Given the description of an element on the screen output the (x, y) to click on. 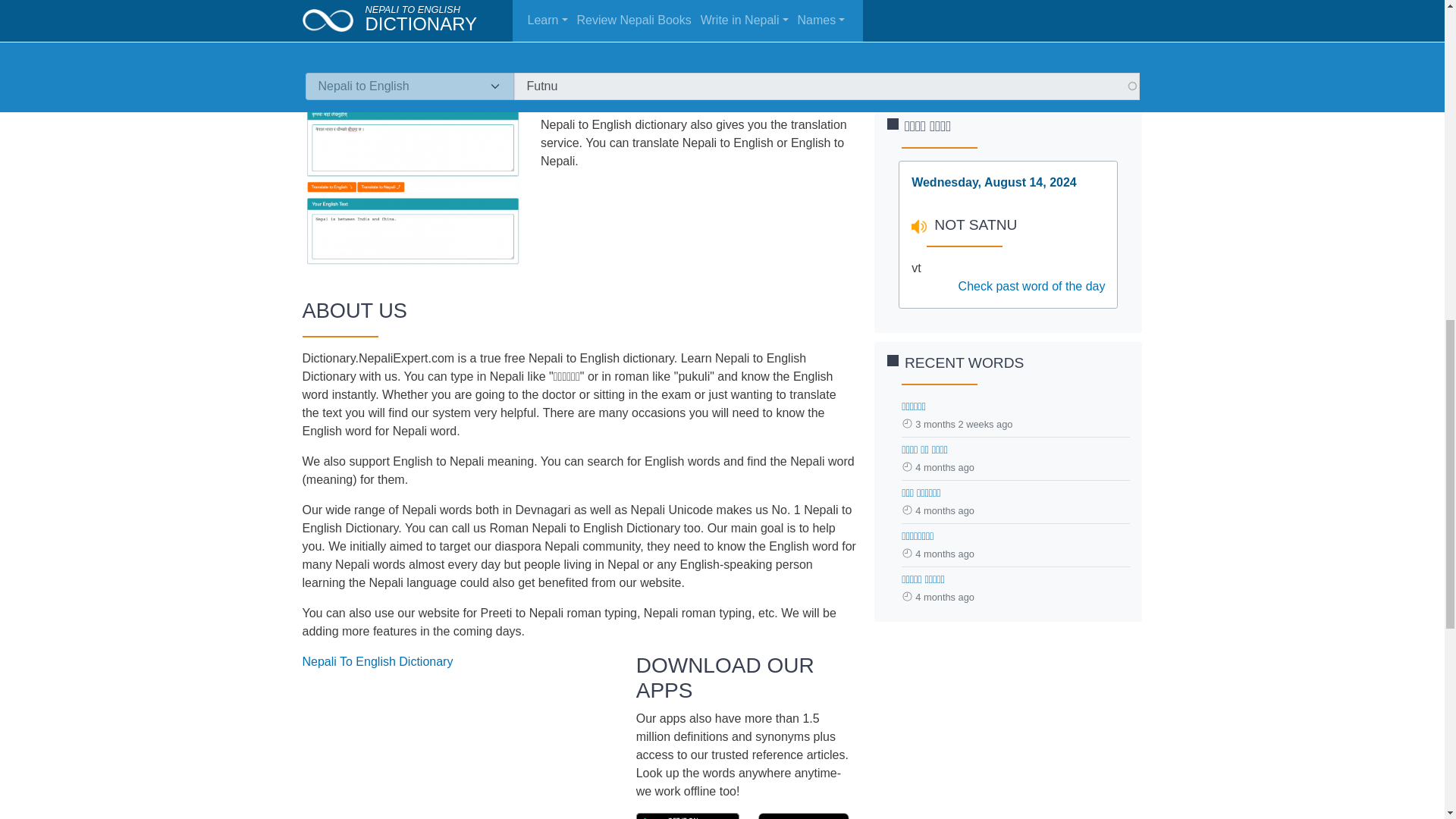
Nepali To English Translator (615, 93)
Nepali To English Dictionary (376, 661)
Nepali to English translator at Nepali Expert (411, 176)
Nepali to English Translator (411, 175)
Created with sketchtool. (687, 816)
